Given the description of an element on the screen output the (x, y) to click on. 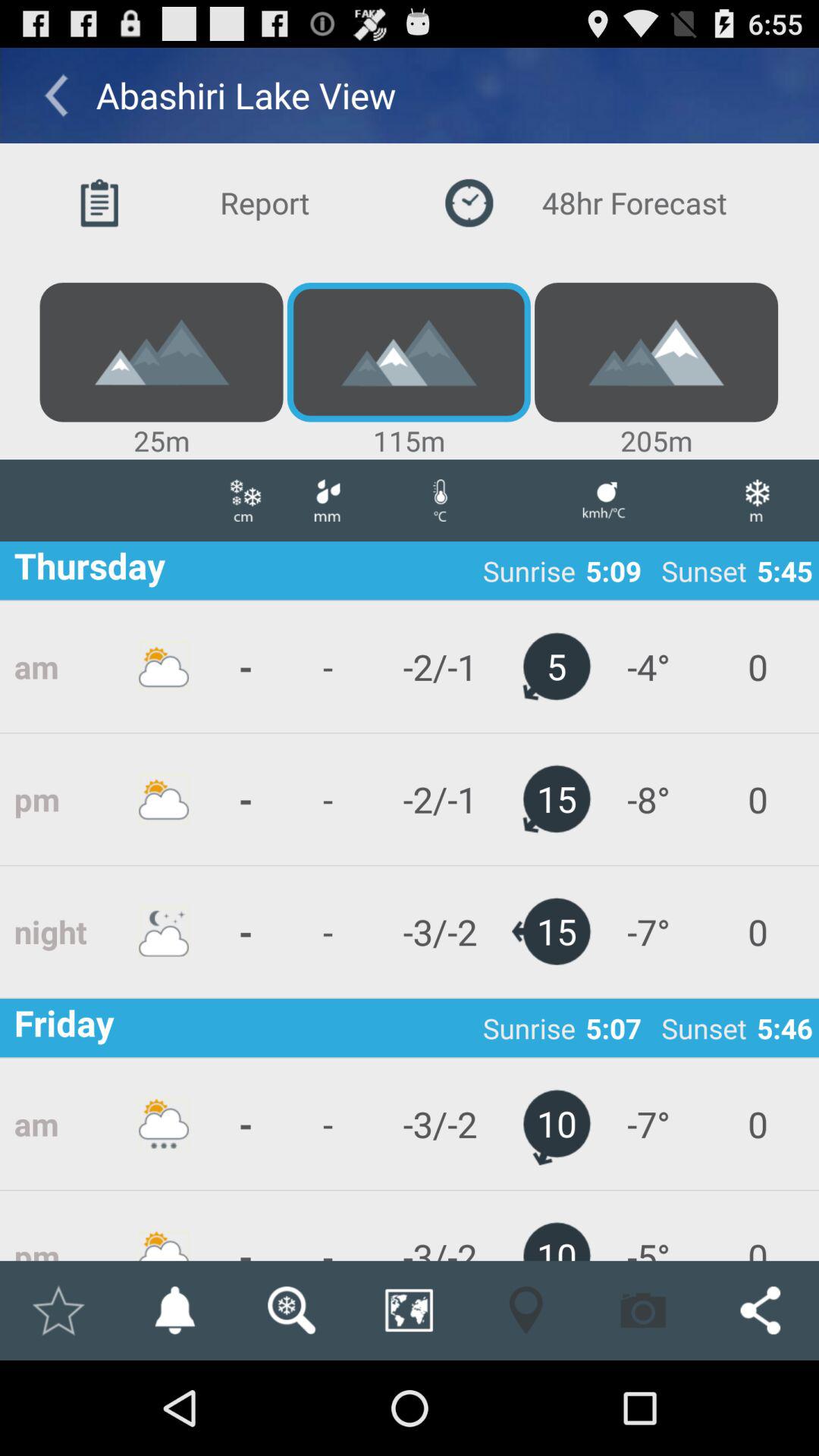
press app below -3/-2 app (525, 1310)
